Given the description of an element on the screen output the (x, y) to click on. 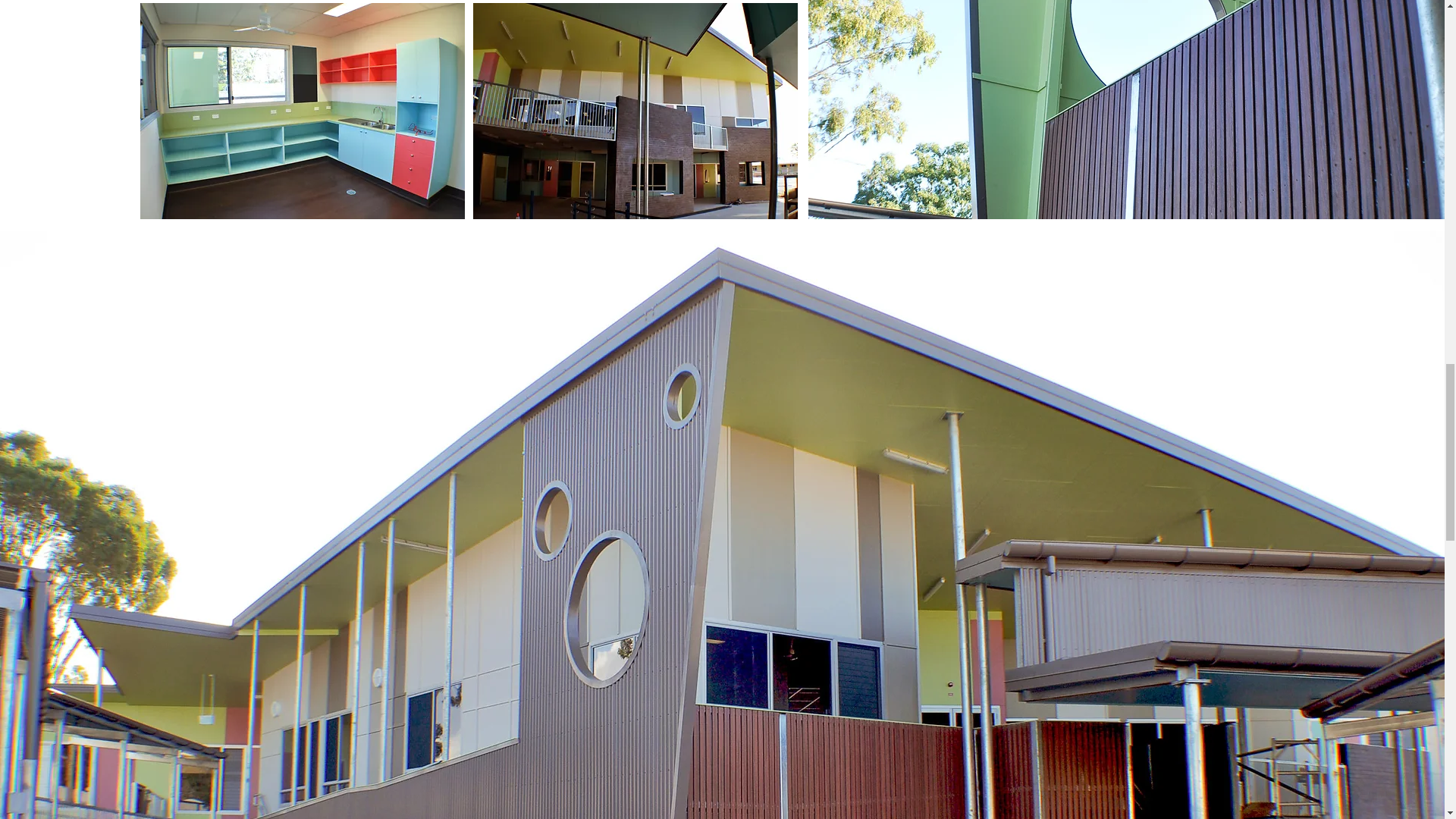
Undurba 110520 052.jpg (635, 111)
